Given the description of an element on the screen output the (x, y) to click on. 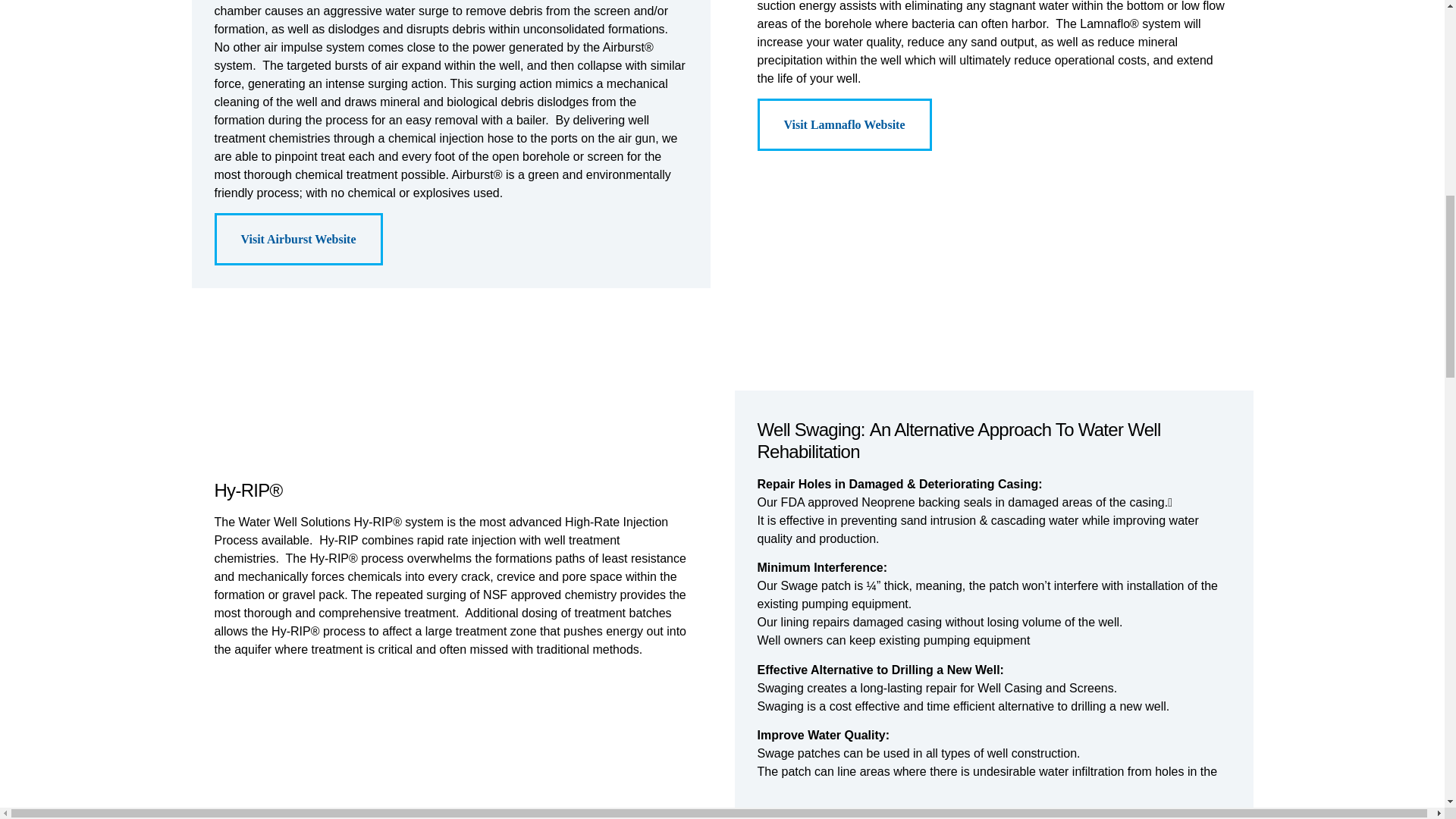
Visit Airburst Website (297, 238)
Well Rehabilitation Services 3 (289, 439)
Visit Lamnaflo Website (844, 123)
